Given the description of an element on the screen output the (x, y) to click on. 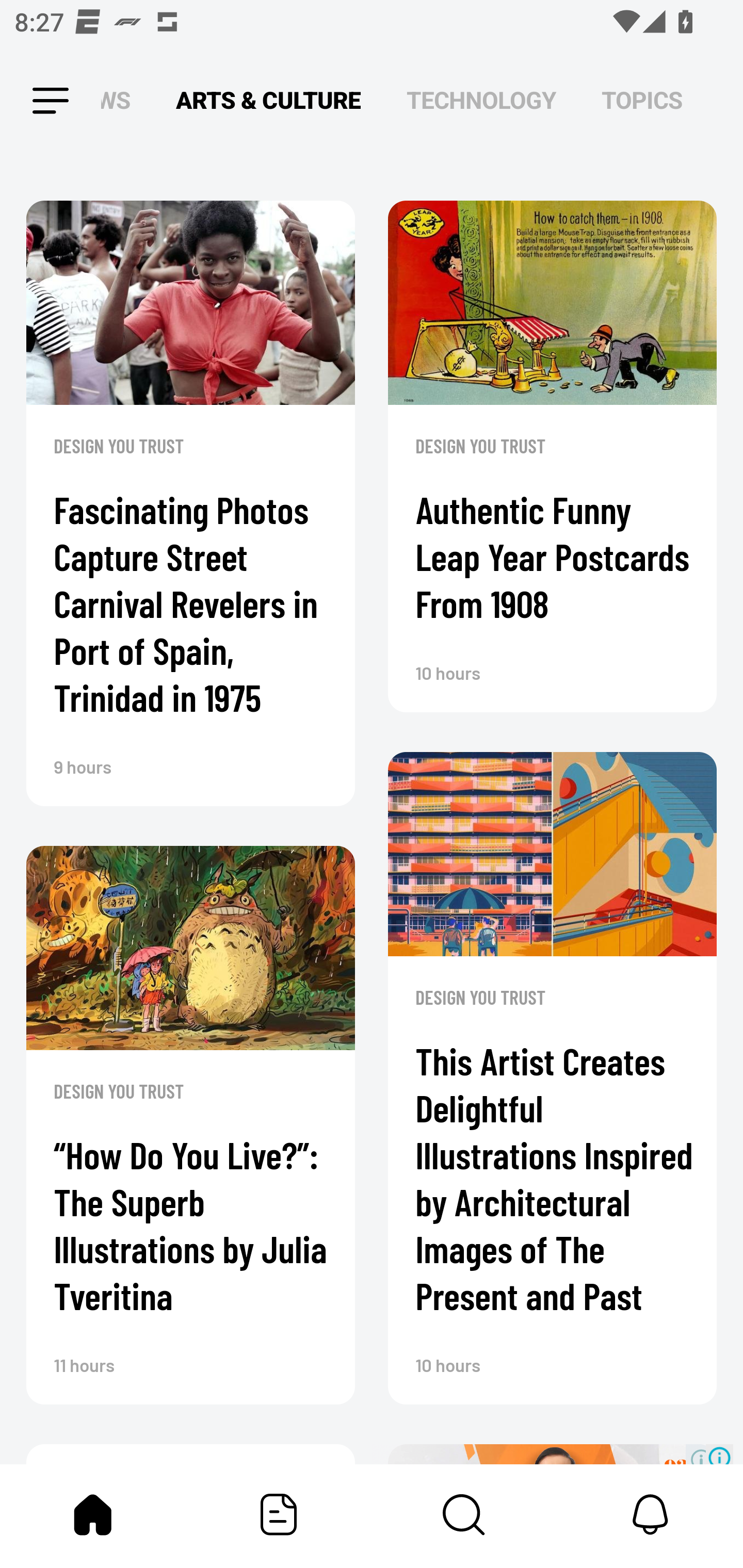
NEWS (121, 100)
TECHNOLOGY (481, 100)
TOPICS (641, 100)
Featured (278, 1514)
Content Store (464, 1514)
Notifications (650, 1514)
